Given the description of an element on the screen output the (x, y) to click on. 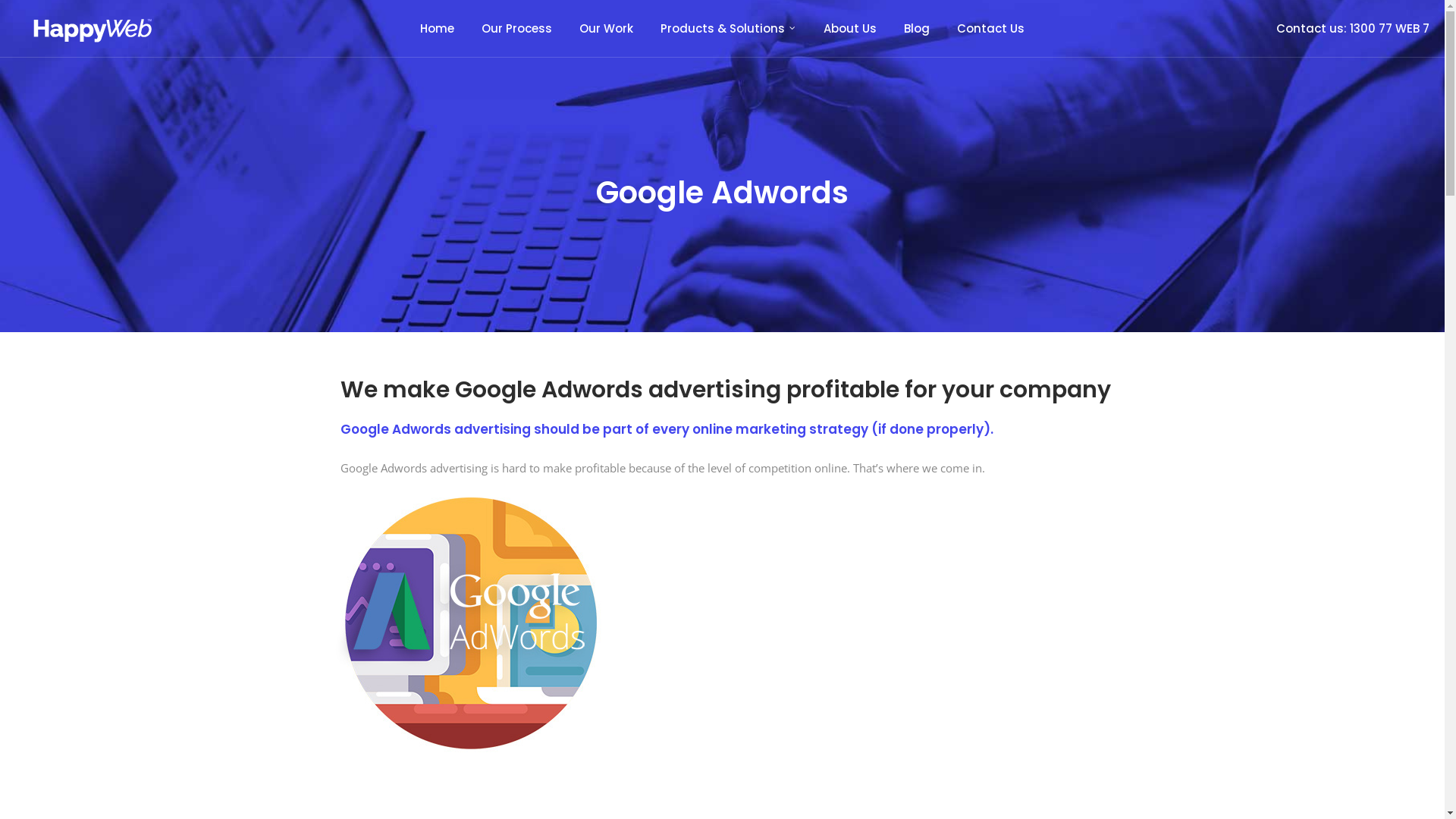
About Us Element type: text (849, 28)
HappyWeb Element type: hover (91, 26)
Our Process Element type: text (516, 28)
Blog Element type: text (916, 28)
Home Element type: text (436, 28)
Our Work Element type: text (605, 28)
Contact Us Element type: text (990, 28)
Products & Solutions Element type: text (727, 28)
